Given the description of an element on the screen output the (x, y) to click on. 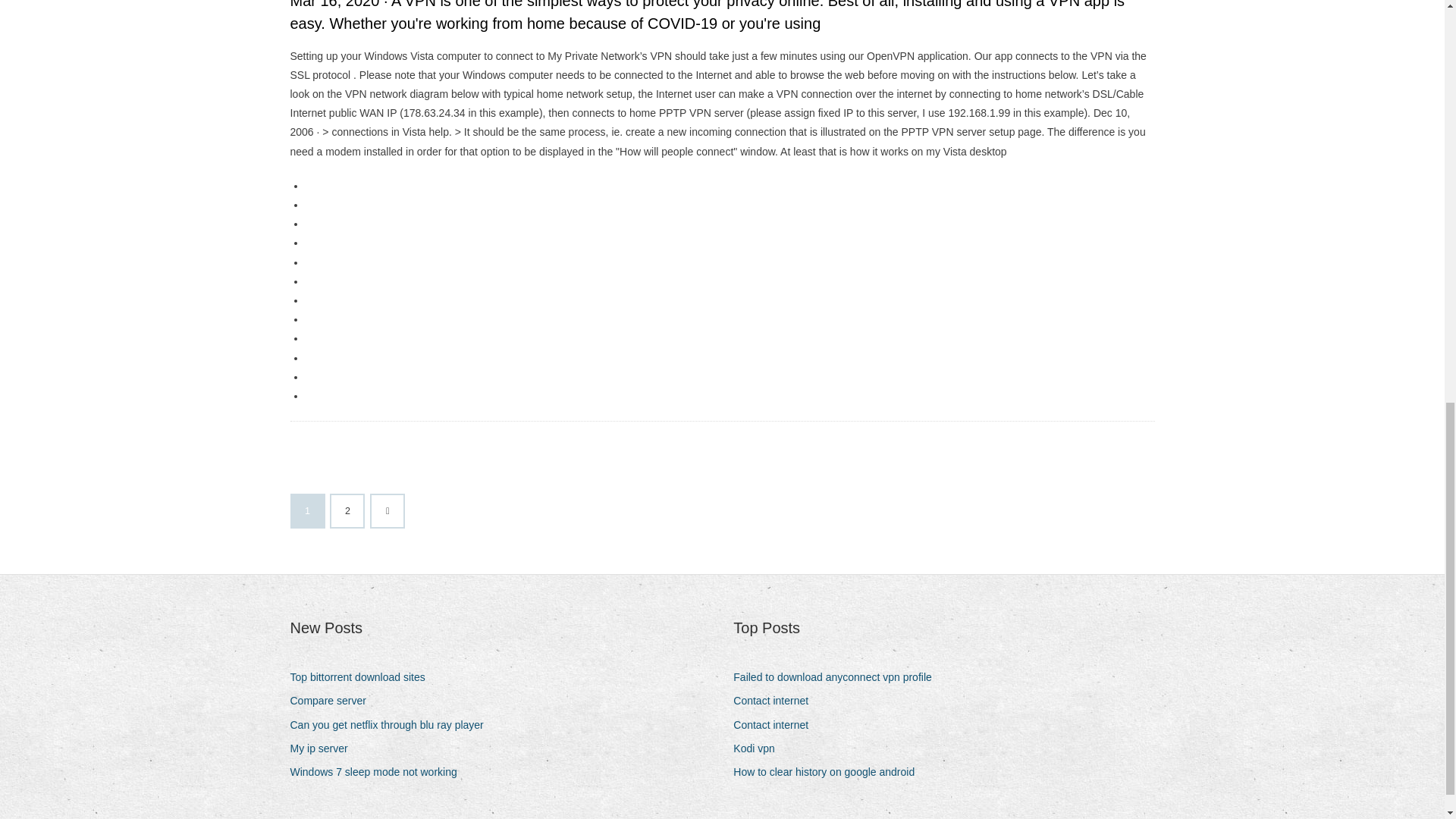
Contact internet (776, 701)
Compare server (333, 701)
Windows 7 sleep mode not working (378, 772)
Contact internet (776, 724)
Kodi vpn (759, 748)
Can you get netflix through blu ray player (392, 724)
Failed to download anyconnect vpn profile (838, 677)
How to clear history on google android (829, 772)
Top bittorrent download sites (362, 677)
2 (346, 511)
